Given the description of an element on the screen output the (x, y) to click on. 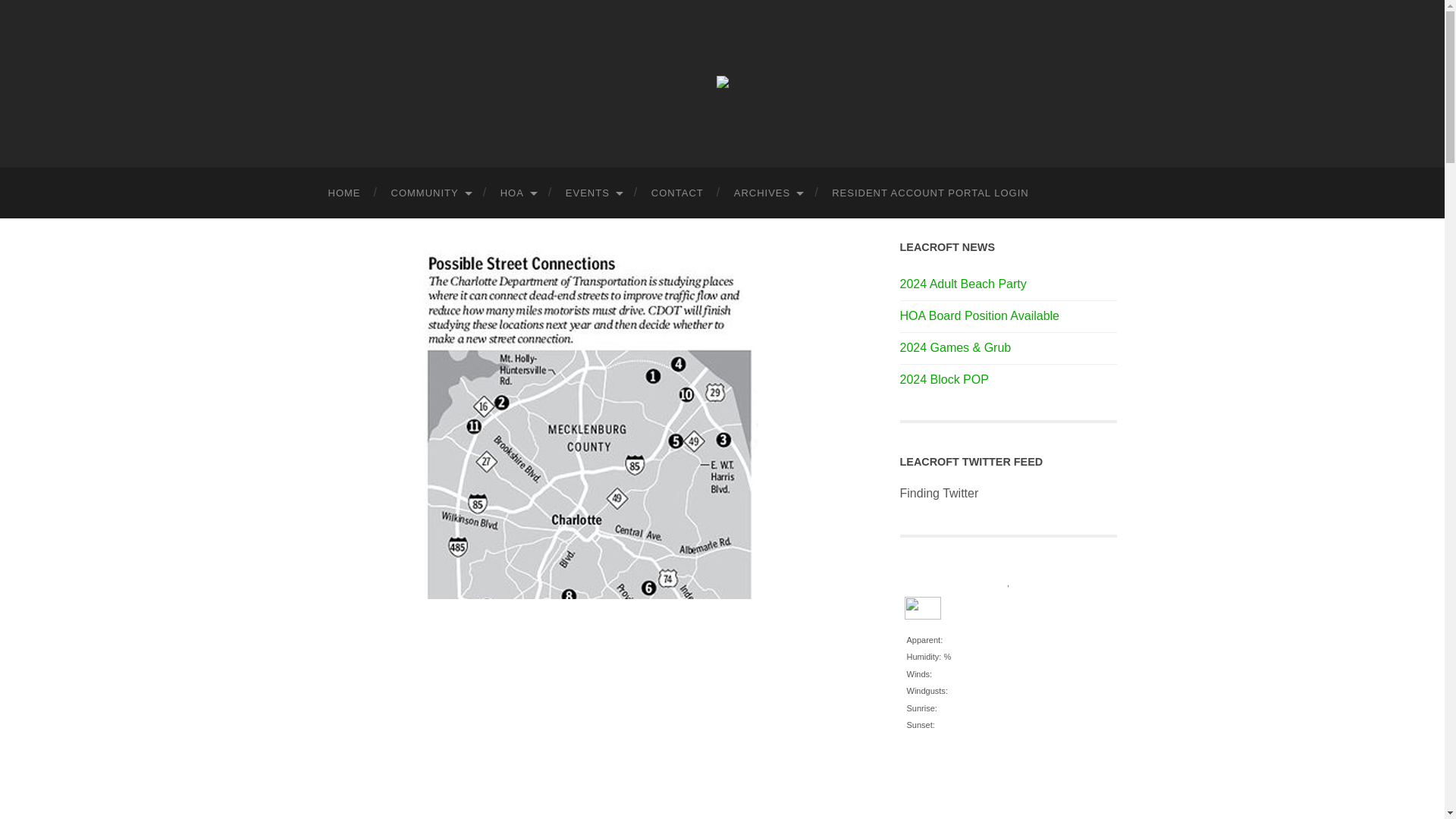
RESIDENT ACCOUNT PORTAL LOGIN (929, 192)
HOME (344, 192)
ARCHIVES (767, 192)
Villages of Leacroft (722, 81)
CONTACT (677, 192)
EVENTS (593, 192)
COMMUNITY (429, 192)
HOA (517, 192)
